Given the description of an element on the screen output the (x, y) to click on. 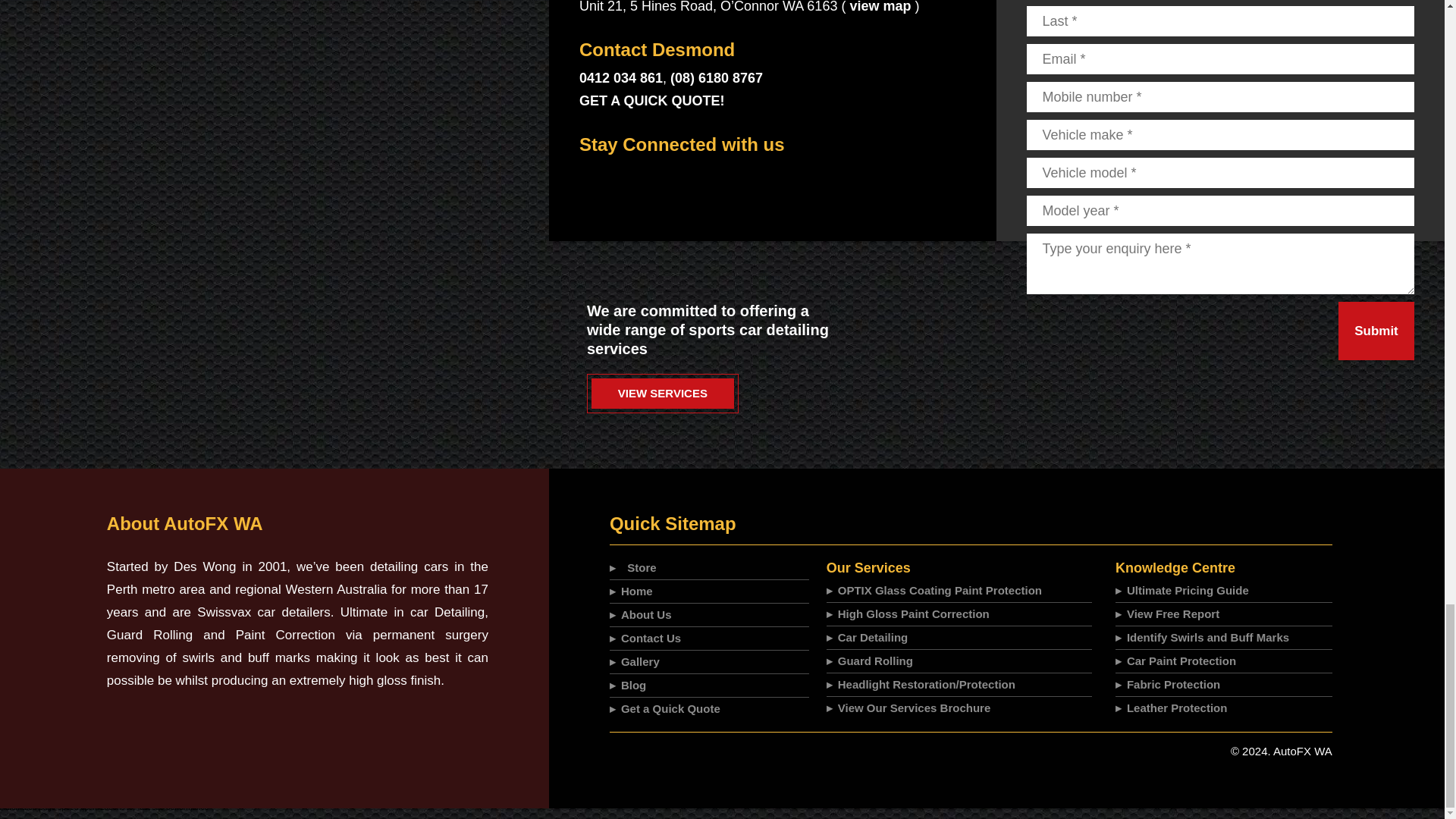
view map on googlemap (879, 6)
Submit (1375, 331)
